Given the description of an element on the screen output the (x, y) to click on. 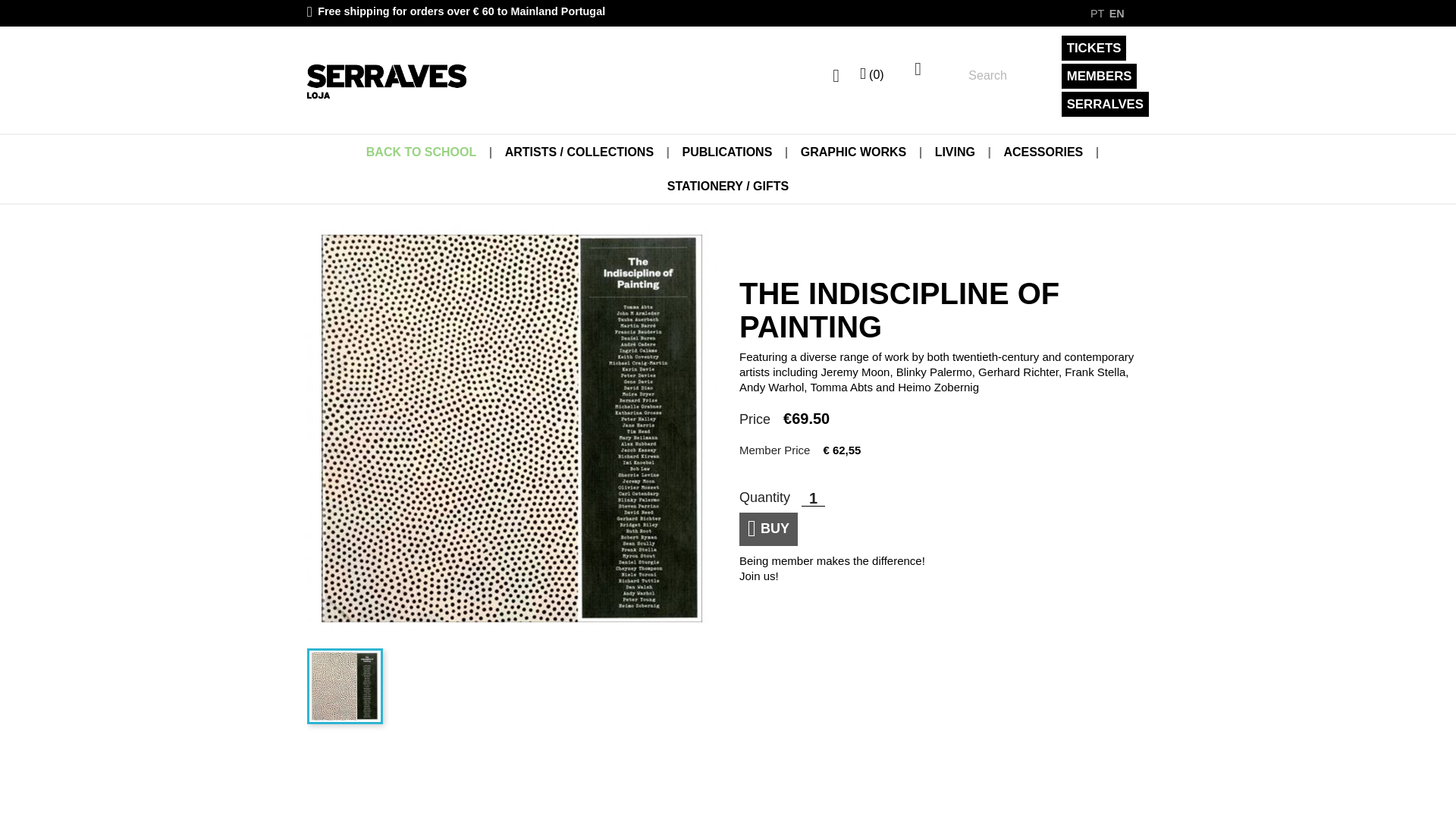
PUBLICATIONS (726, 151)
PT (1098, 14)
TICKETS (1093, 48)
Log in to your customer account (830, 75)
BACK TO SCHOOL (420, 151)
Adicionar ao Carrinho (768, 529)
MEMBERS (1099, 75)
SERRALVES (1104, 104)
EN (1116, 14)
